Given the description of an element on the screen output the (x, y) to click on. 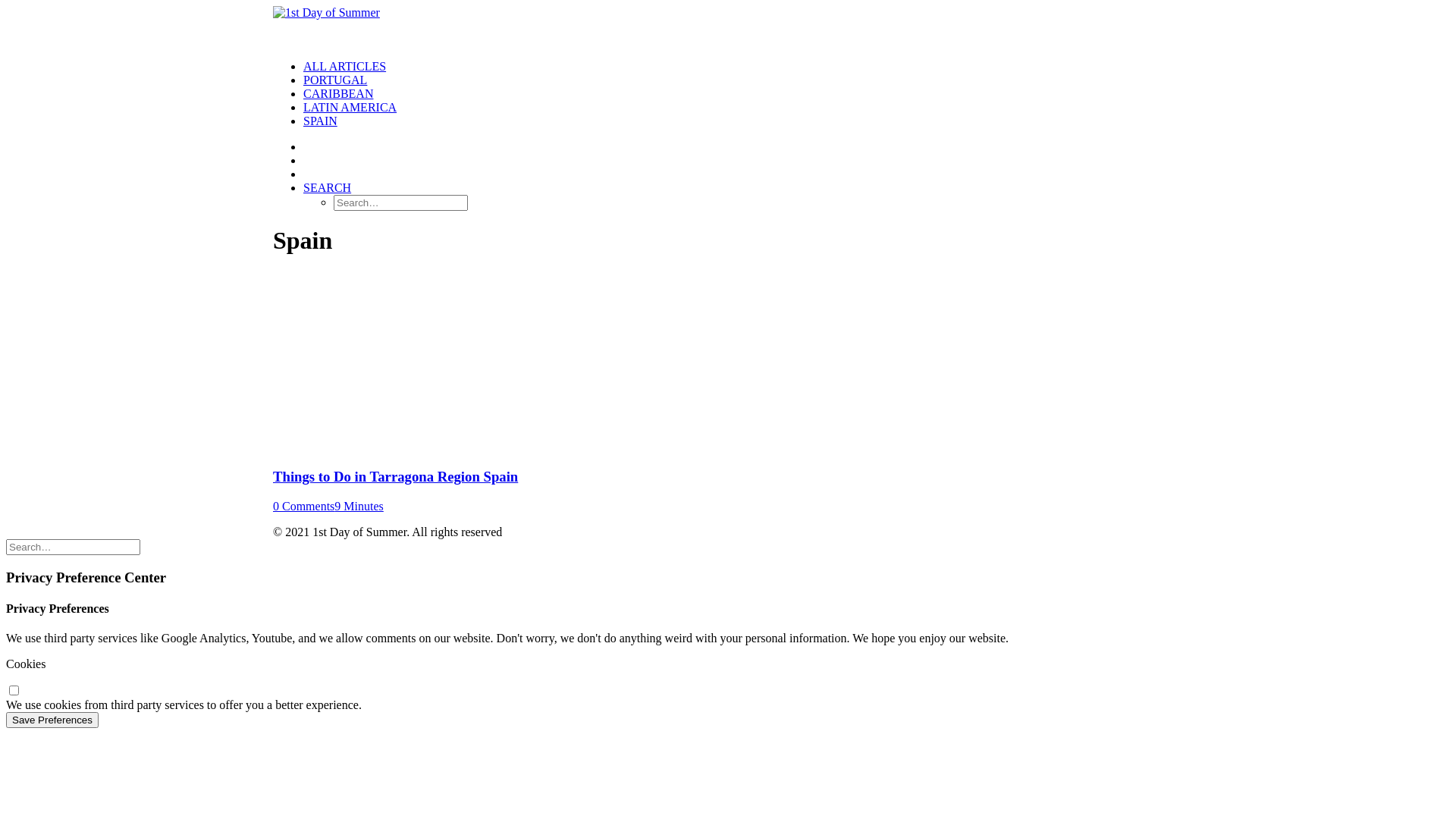
LATIN AMERICA Element type: text (349, 106)
CARIBBEAN Element type: text (338, 93)
Things to Do in Tarragona Region Spain
0 Comments9 Minutes Element type: text (728, 490)
Search for: Element type: hover (73, 547)
SEARCH Element type: text (327, 187)
PORTUGAL Element type: text (335, 79)
ALL ARTICLES Element type: text (344, 65)
Save Preferences Element type: text (52, 720)
SPAIN Element type: text (320, 120)
